Given the description of an element on the screen output the (x, y) to click on. 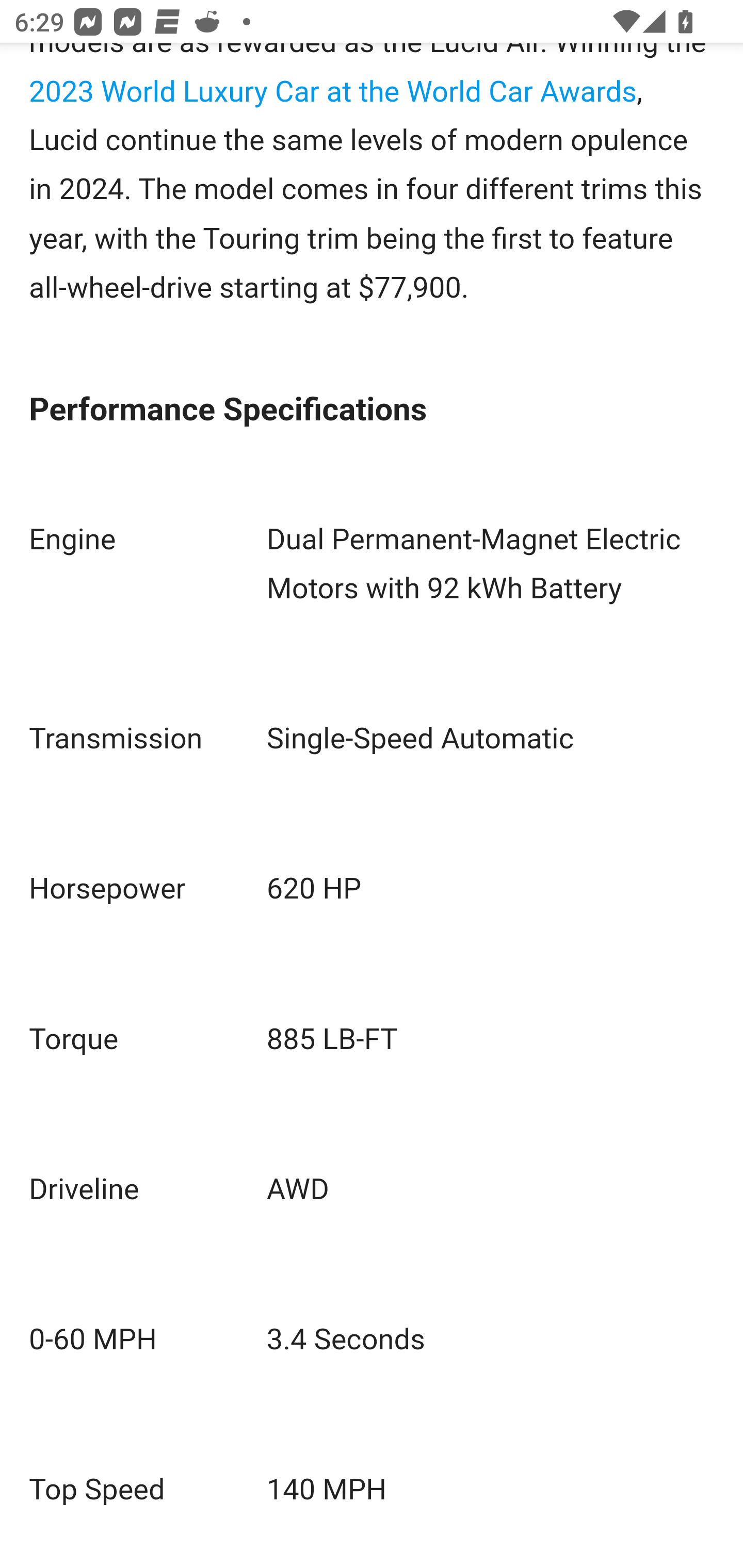
2023 World Luxury Car at the World Car Awards (332, 92)
